Given the description of an element on the screen output the (x, y) to click on. 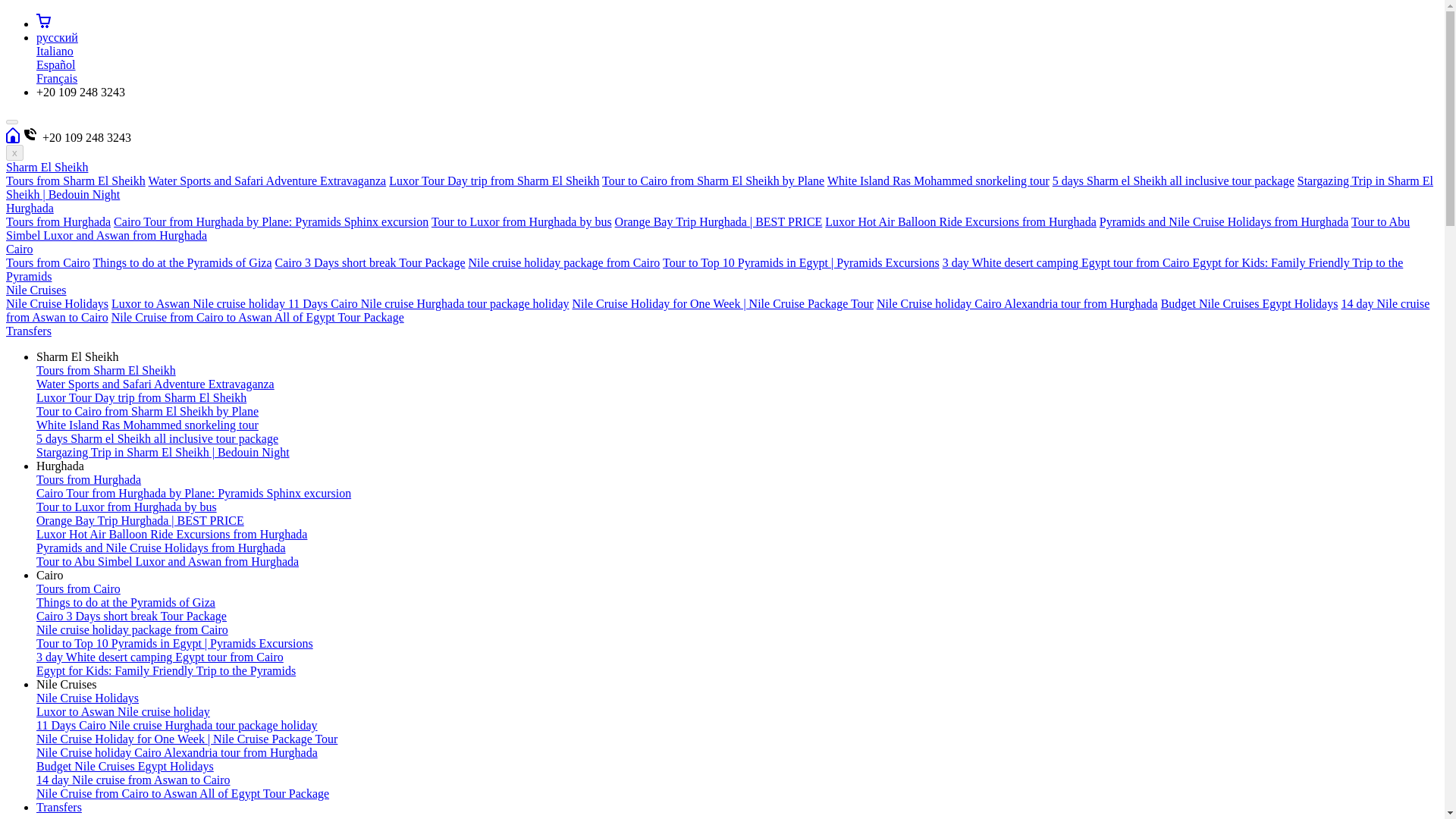
Luxor to Aswan Nile cruise holiday (200, 303)
5 days Sharm el Sheikh all inclusive tour package (1173, 180)
Tour to Abu Simbel Luxor and Aswan from Hurghada (707, 228)
Sharm El Sheikh Tours (12, 137)
Cairo 3 Days short break Tour Package (370, 262)
11 Days Cairo Nile cruise Hurghada tour package holiday (428, 303)
Tours from Sharm El Sheikh (75, 180)
Your Shopping Cart is empty (43, 23)
Transfers (58, 807)
White Island Ras Mohammed snorkeling tour (938, 180)
Pyramids and Nile Cruise Holidays from Hurghada (1224, 221)
Nile Cruise holiday Cairo Alexandria tour from Hurghada (1016, 303)
Nile cruise holiday package from Cairo (564, 262)
Cairo Tour from Hurghada by Plane: Pyramids Sphinx excursion (270, 221)
x (14, 152)
